Given the description of an element on the screen output the (x, y) to click on. 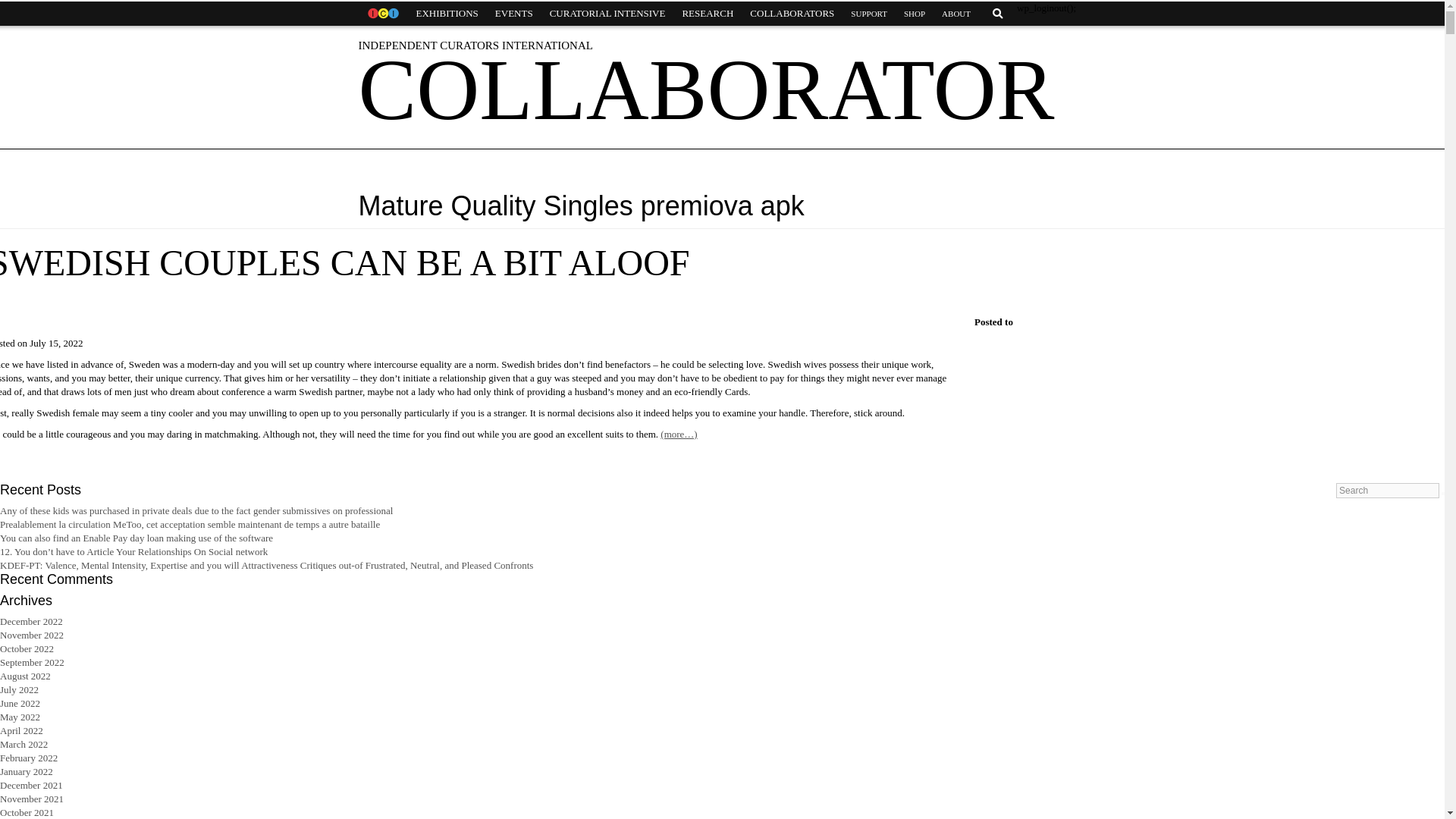
COLLABORATORS (792, 13)
HOME (382, 13)
CURATORIAL INTENSIVE (607, 13)
EXHIBITIONS (446, 13)
EVENTS (513, 13)
RESEARCH (706, 13)
